Given the description of an element on the screen output the (x, y) to click on. 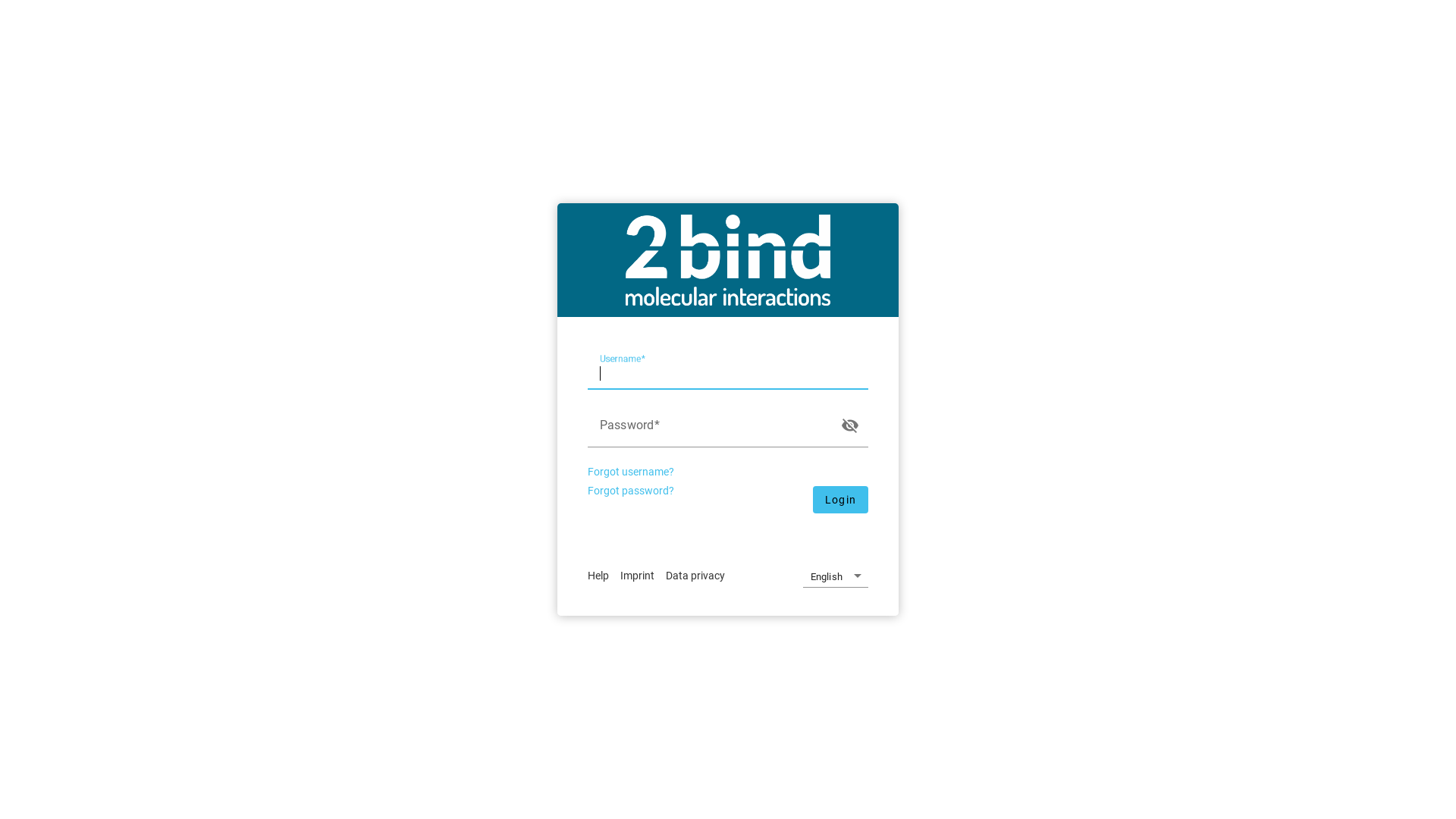
Help Element type: text (602, 575)
Forgot username? Element type: text (633, 471)
Forgot password? Element type: text (633, 490)
Data privacy Element type: text (699, 575)
Login Element type: text (840, 499)
visibility_off Element type: text (849, 421)
Imprint Element type: text (641, 575)
